Given the description of an element on the screen output the (x, y) to click on. 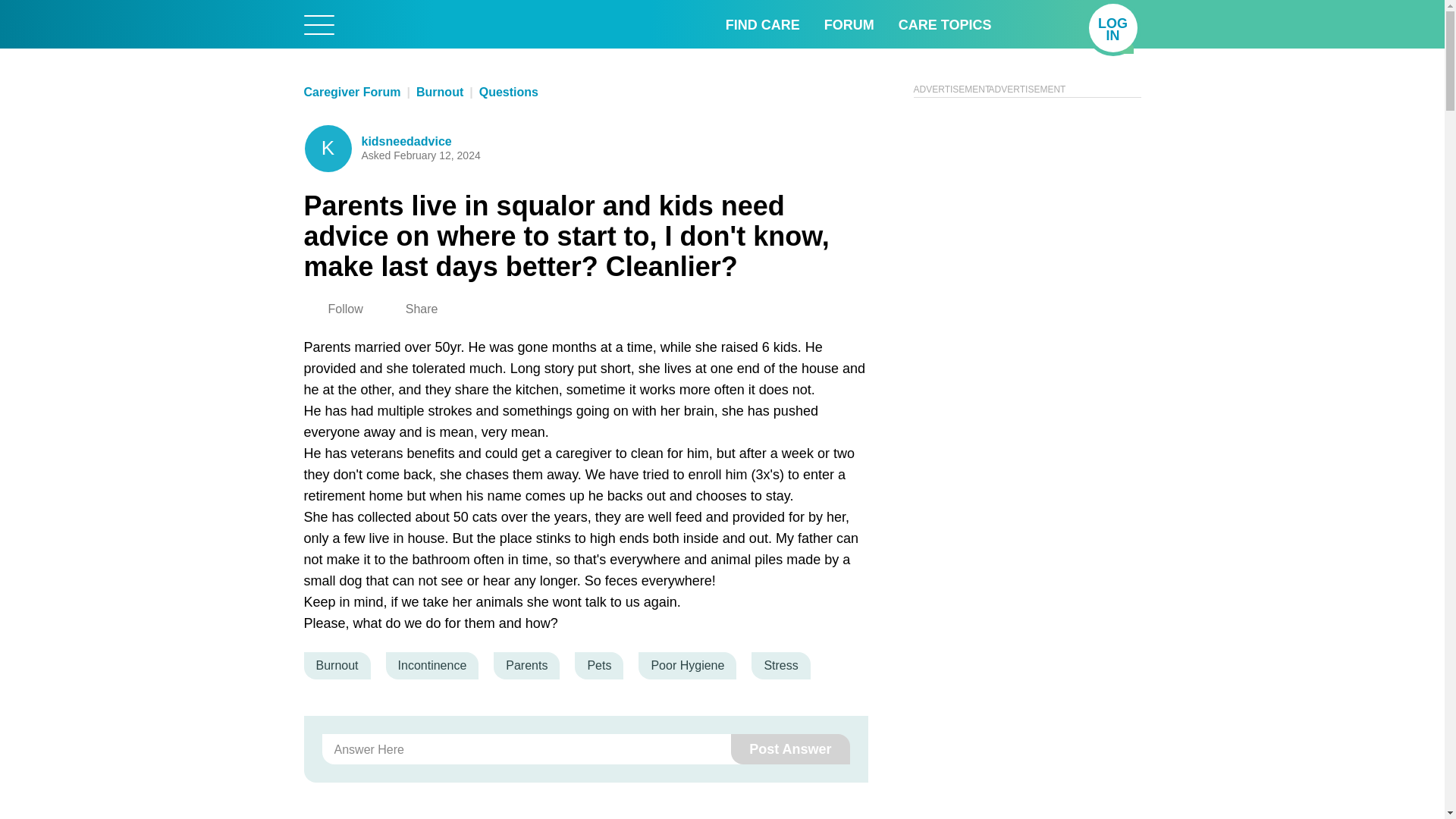
FORUM (849, 24)
FIND CARE (762, 24)
CARE TOPICS (1113, 28)
